Given the description of an element on the screen output the (x, y) to click on. 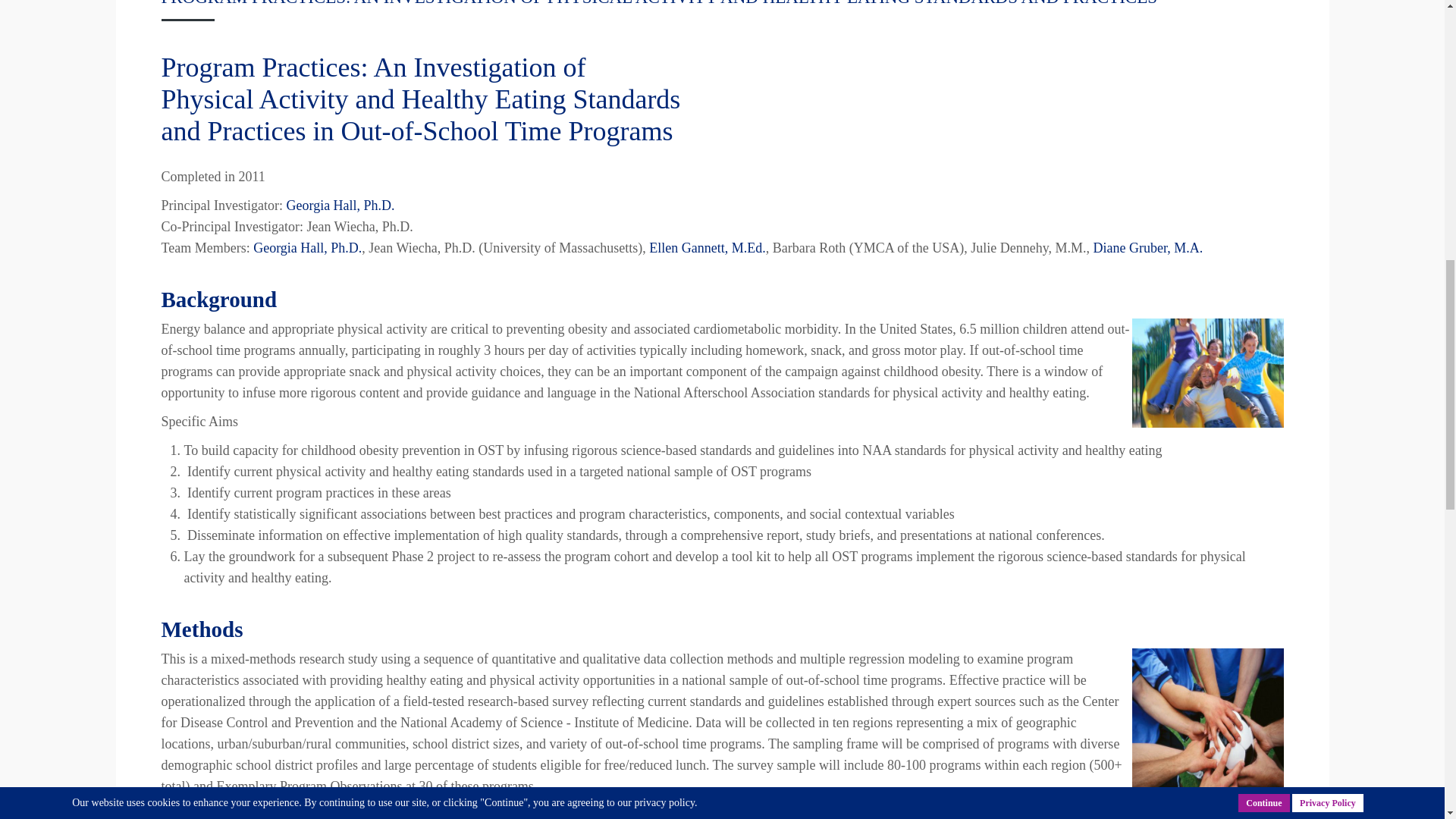
Georgia Hall, Ph.D. (339, 205)
Diane Gruber, M.A. (1147, 247)
kids on slide.jpg (1206, 372)
Ellen Gannett, M.Ed. (707, 247)
kids on slide.jpg (1206, 724)
Georgia Hall, Ph.D. (307, 247)
